Given the description of an element on the screen output the (x, y) to click on. 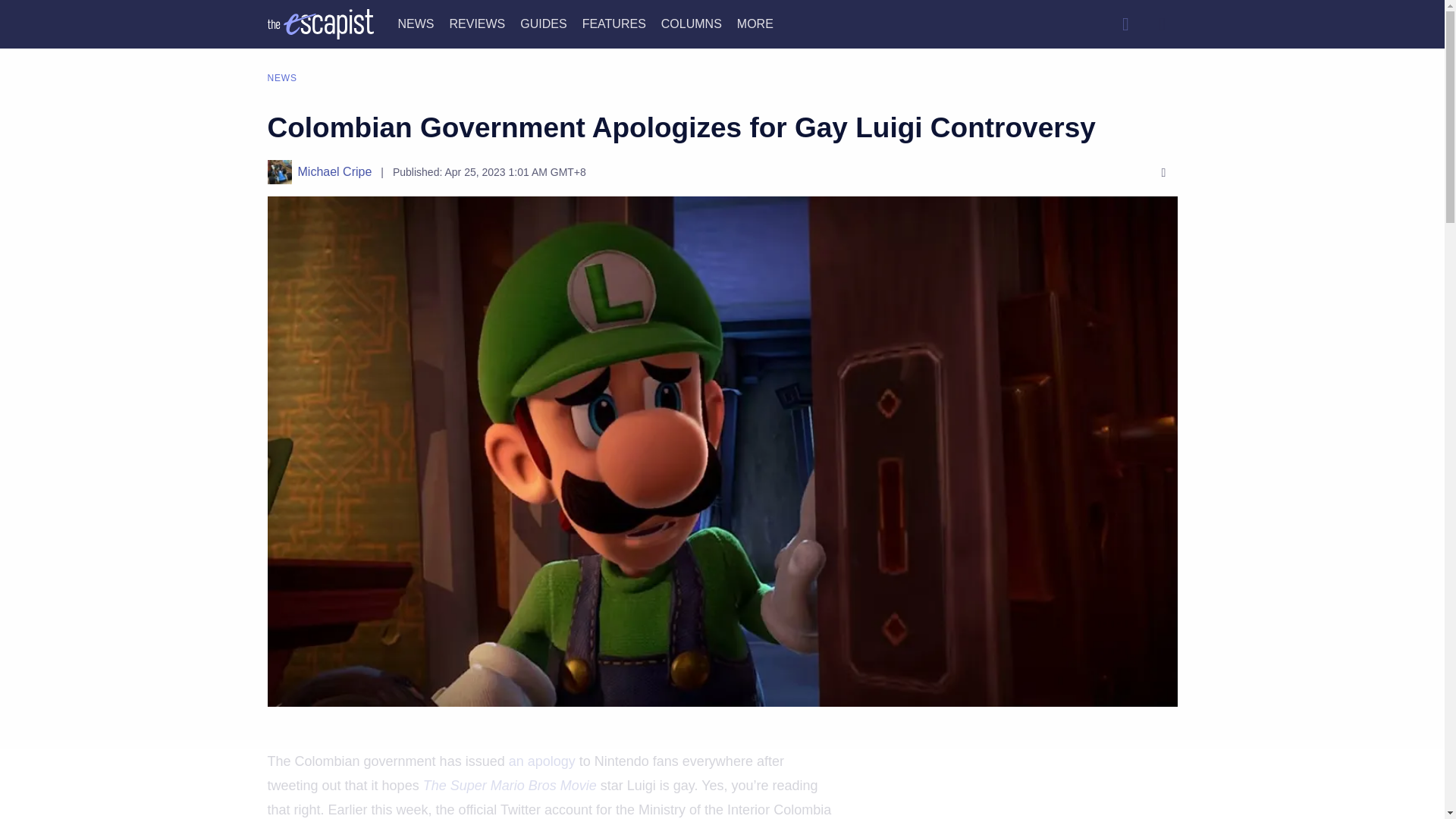
Search (1124, 24)
3rd party ad content (721, 785)
NEWS (415, 23)
FEATURES (614, 23)
GUIDES (542, 23)
REVIEWS (476, 23)
3rd party ad content (1024, 793)
COLUMNS (691, 23)
Dark Mode (1161, 24)
